Given the description of an element on the screen output the (x, y) to click on. 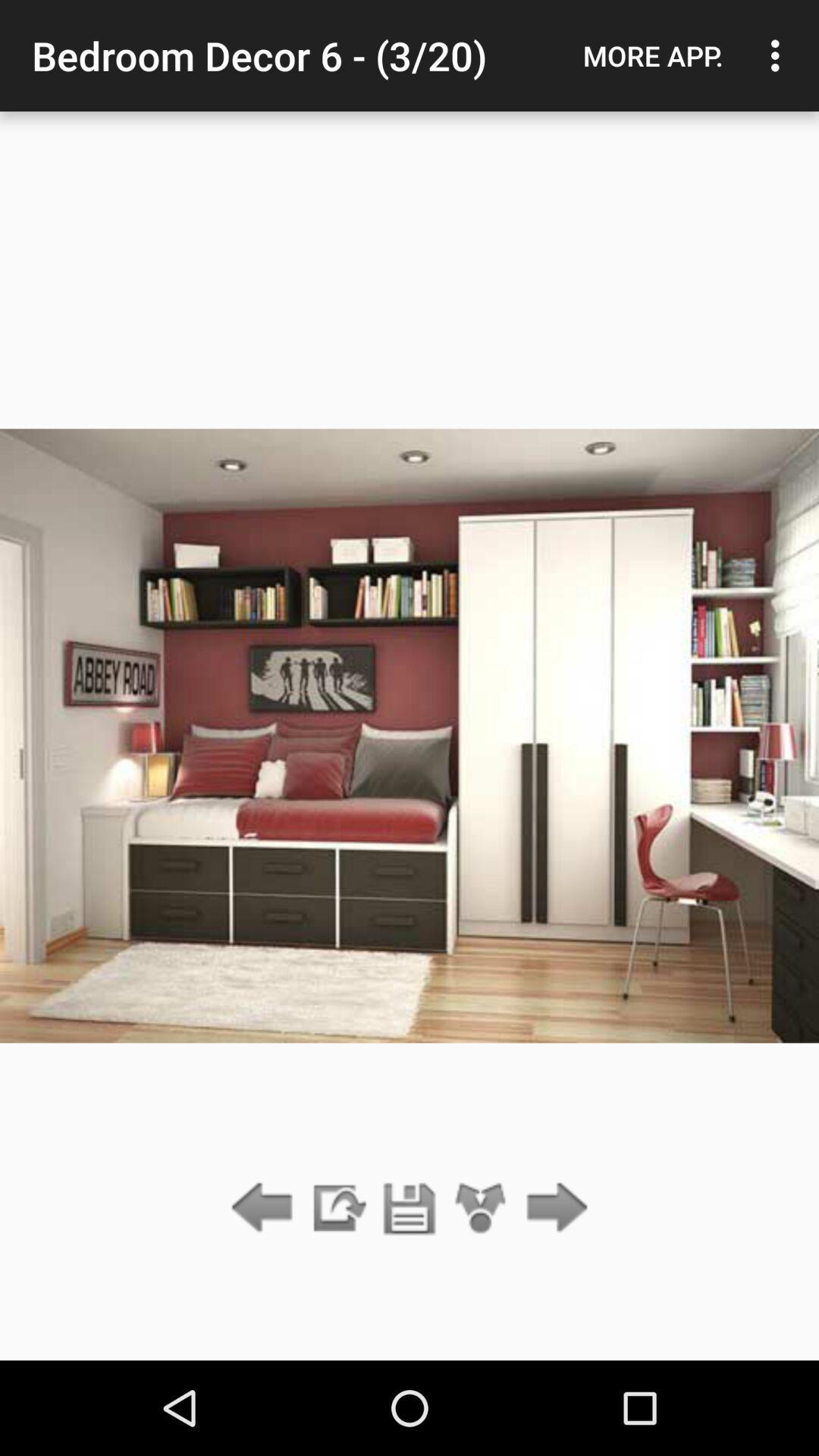
open the icon to the right of bedroom decor 6 item (653, 55)
